Given the description of an element on the screen output the (x, y) to click on. 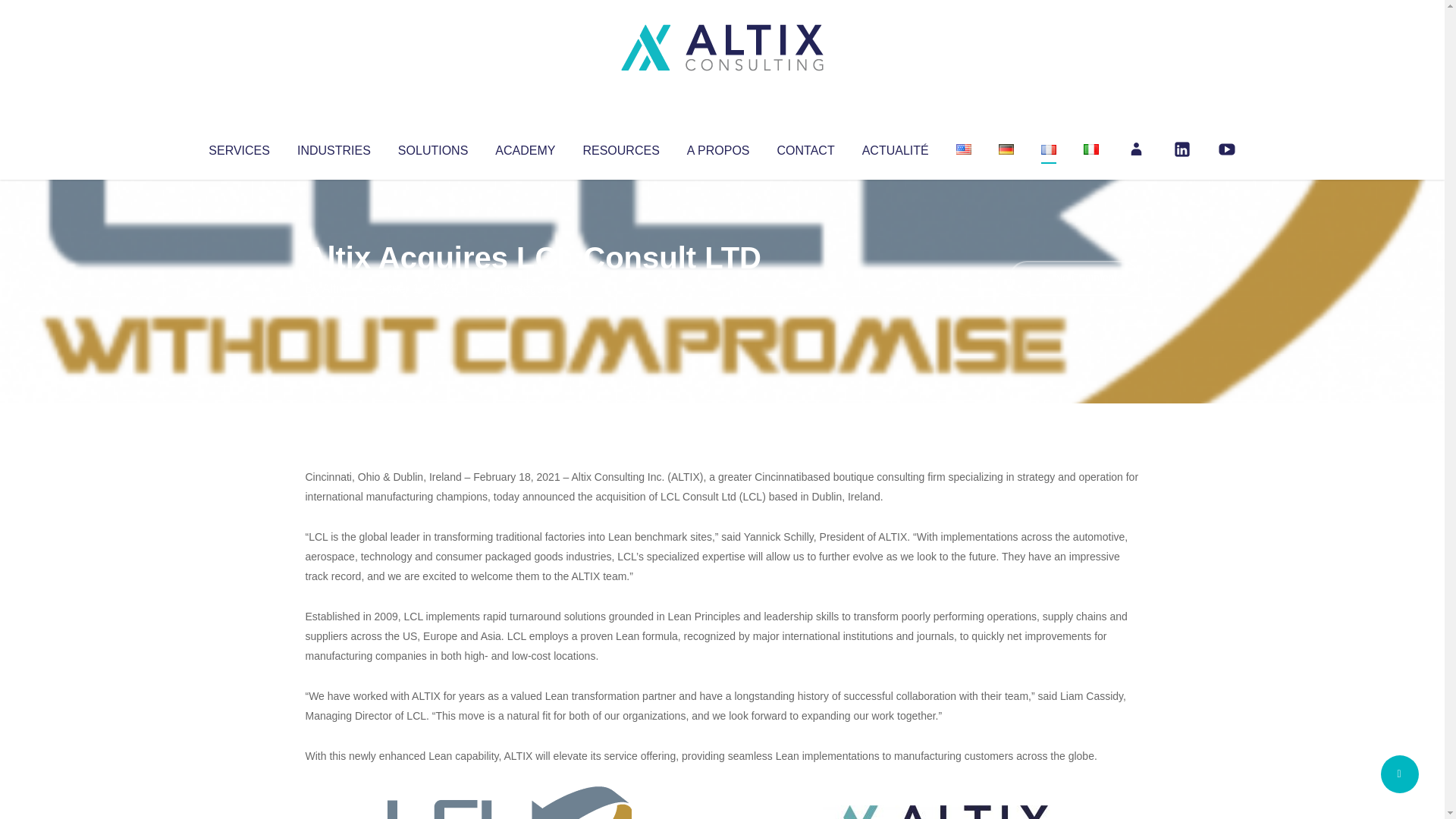
RESOURCES (620, 146)
SERVICES (238, 146)
A PROPOS (718, 146)
ACADEMY (524, 146)
No Comments (1073, 278)
Articles par Altix (333, 287)
Uncategorized (530, 287)
INDUSTRIES (334, 146)
Altix (333, 287)
SOLUTIONS (432, 146)
